Given the description of an element on the screen output the (x, y) to click on. 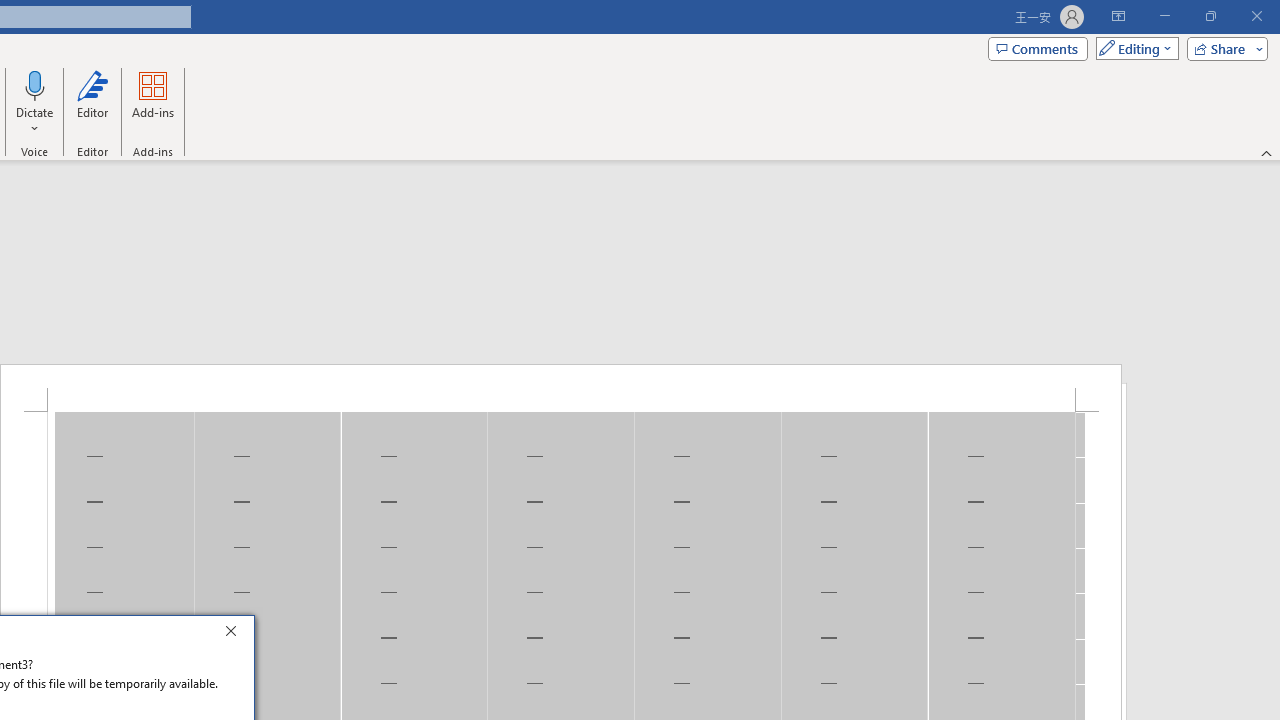
Header -Section 1- (561, 387)
Mode (1133, 47)
